Given the description of an element on the screen output the (x, y) to click on. 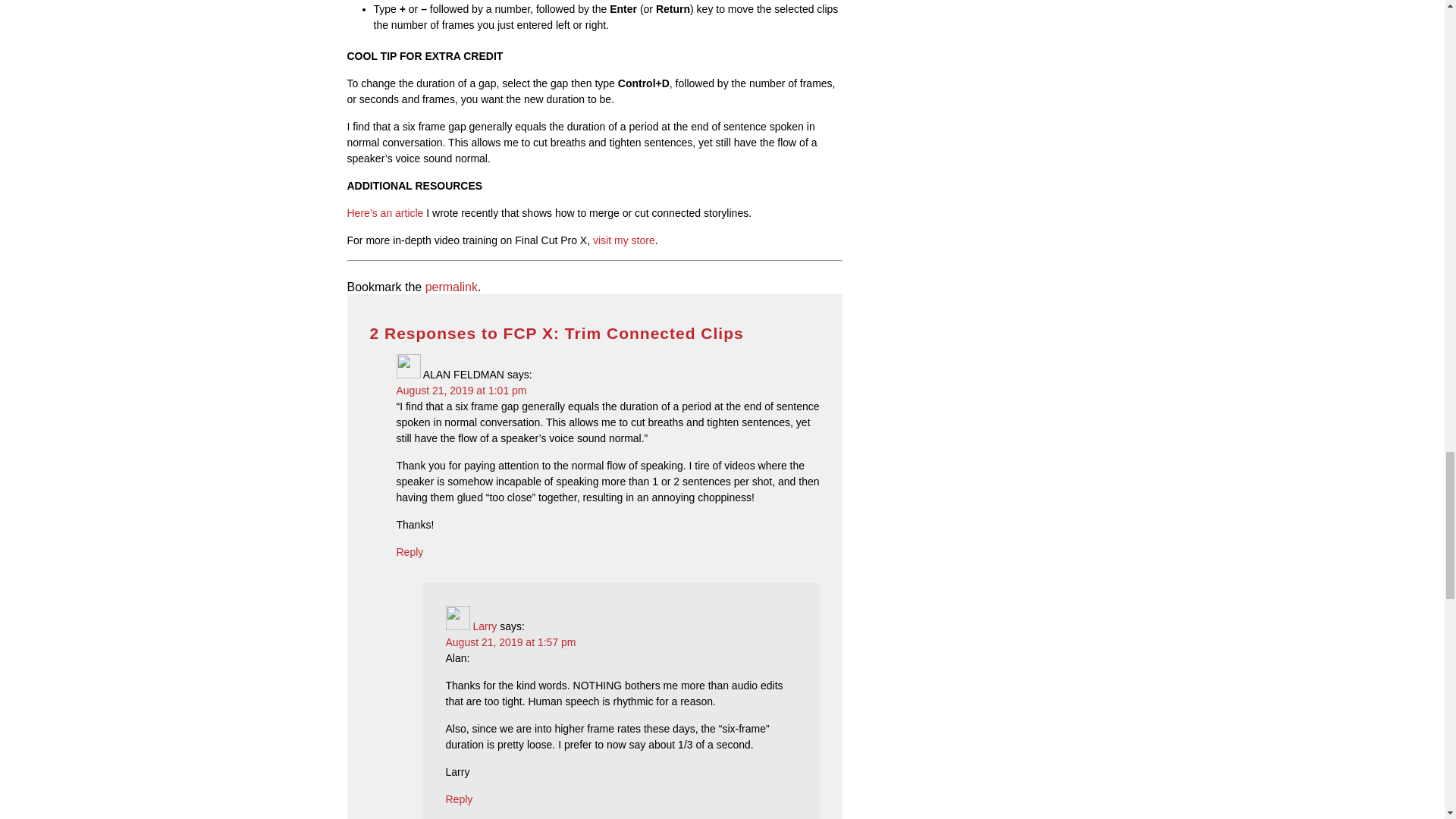
visit my store (623, 240)
Reply (459, 799)
Larry (483, 625)
August 21, 2019 at 1:01 pm (460, 390)
permalink (451, 286)
Reply (409, 551)
Permalink to FCP X: Trim Connected Clips (451, 286)
August 21, 2019 at 1:57 pm (510, 642)
